Given the description of an element on the screen output the (x, y) to click on. 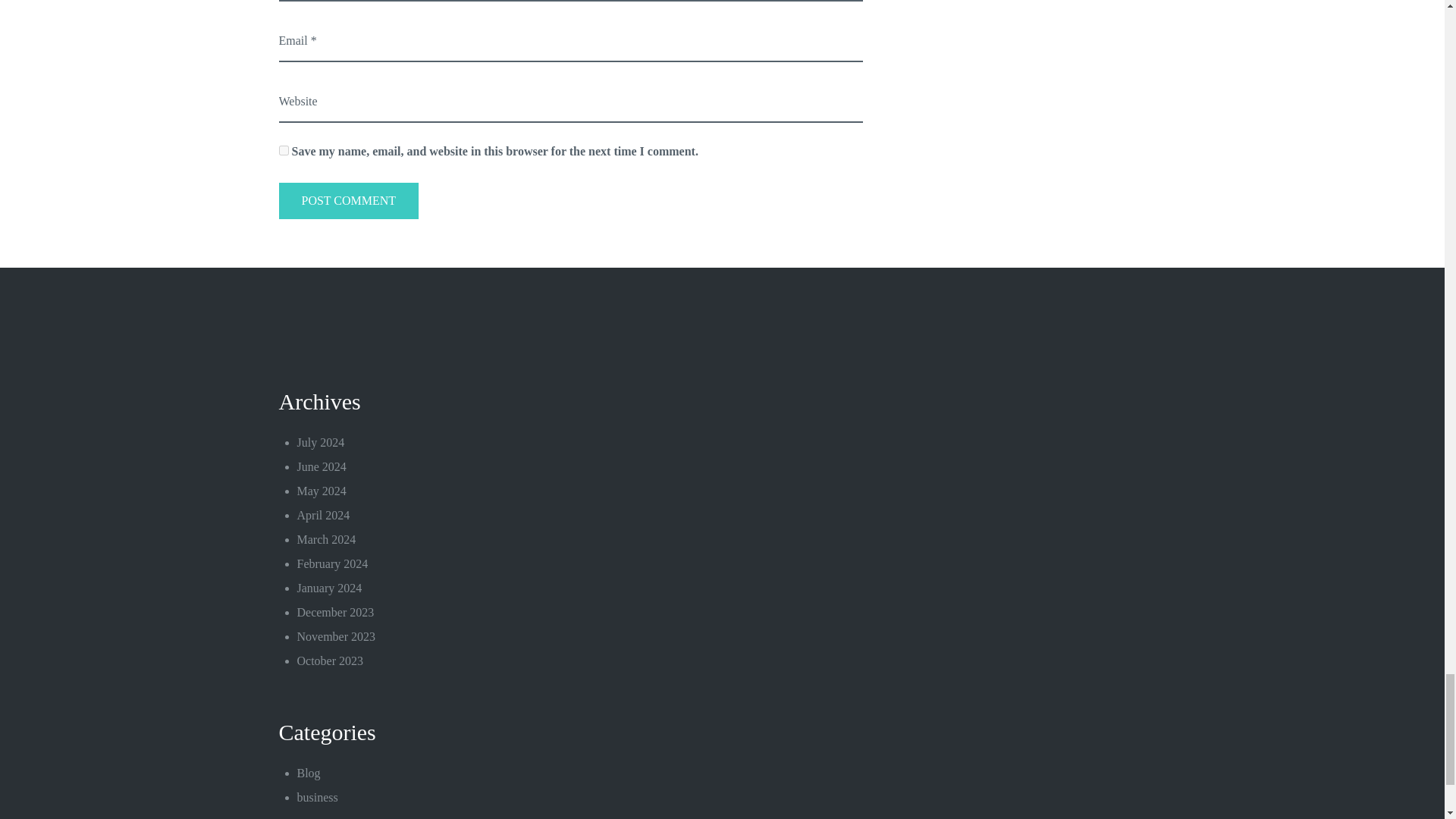
Post Comment (349, 200)
yes (283, 150)
Post Comment (349, 200)
